Given the description of an element on the screen output the (x, y) to click on. 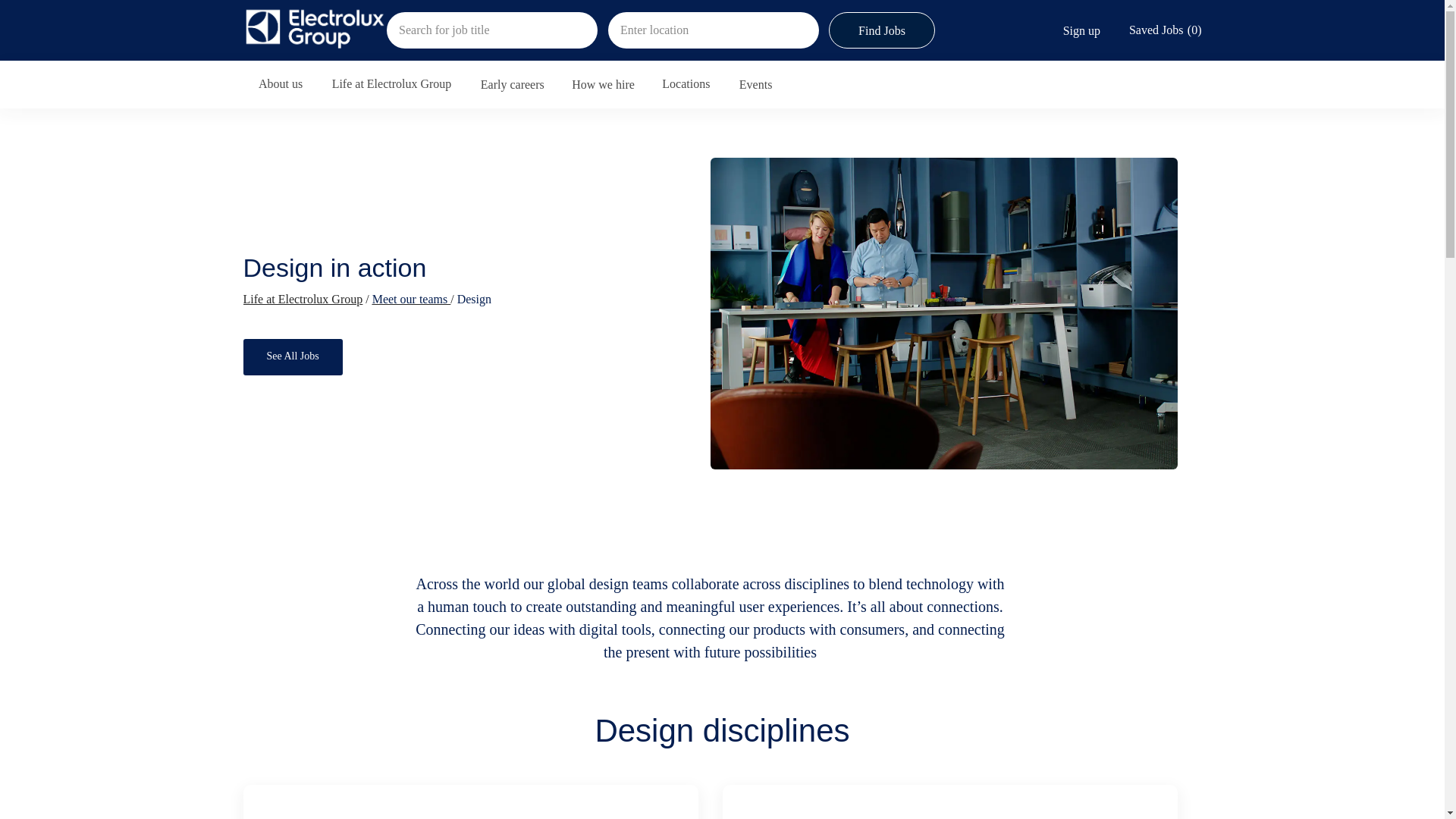
Life at Electrolux Group (391, 84)
Early careers (512, 85)
Sign up (1081, 29)
Find Jobs (881, 30)
See all jobs (292, 357)
Life at Electrolux Group (302, 298)
Events (756, 85)
How we hire (603, 85)
Meet our teams  (411, 298)
Locations (686, 84)
